Given the description of an element on the screen output the (x, y) to click on. 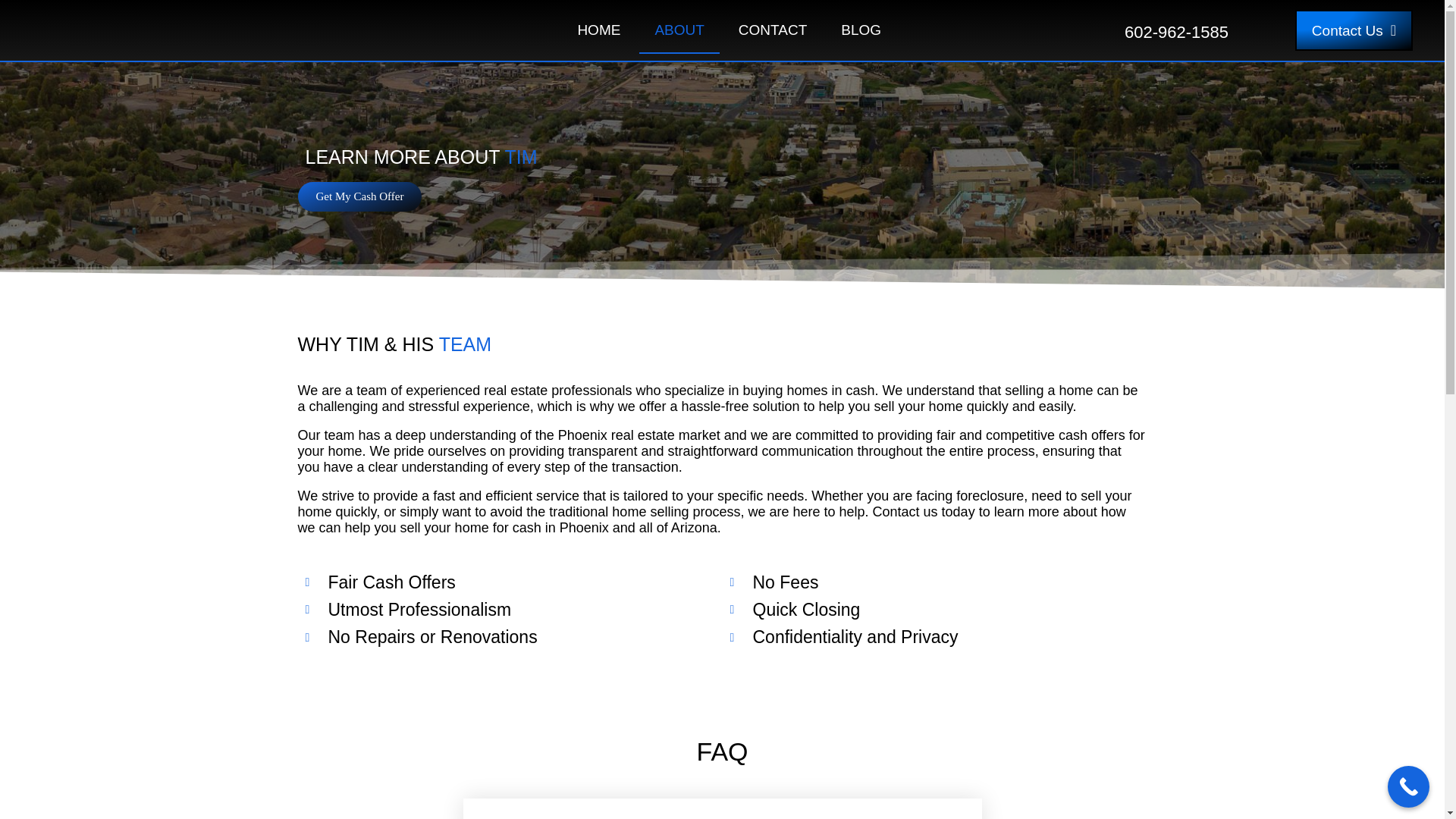
602-962-1585 (1176, 31)
ABOUT (679, 30)
Contact Us (1353, 29)
CONTACT (772, 30)
Get My Cash Offer (359, 196)
BLOG (860, 30)
HOME (598, 30)
